Given the description of an element on the screen output the (x, y) to click on. 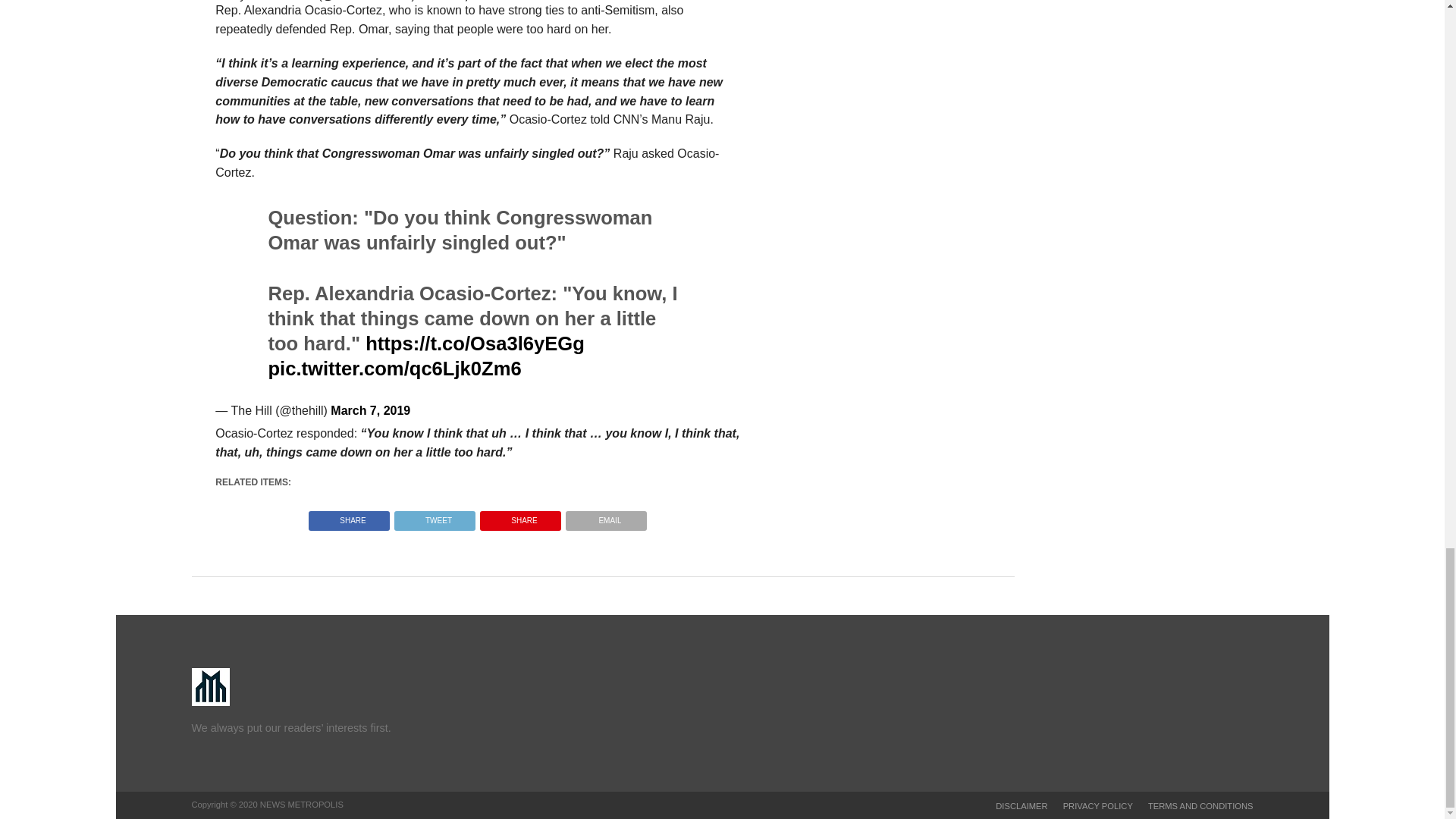
SHARE (349, 516)
TWEET (434, 516)
Share on Facebook (349, 516)
March 7, 2019 (370, 410)
March 8, 2019 (458, 0)
SHARE (520, 516)
EMAIL (605, 516)
